Given the description of an element on the screen output the (x, y) to click on. 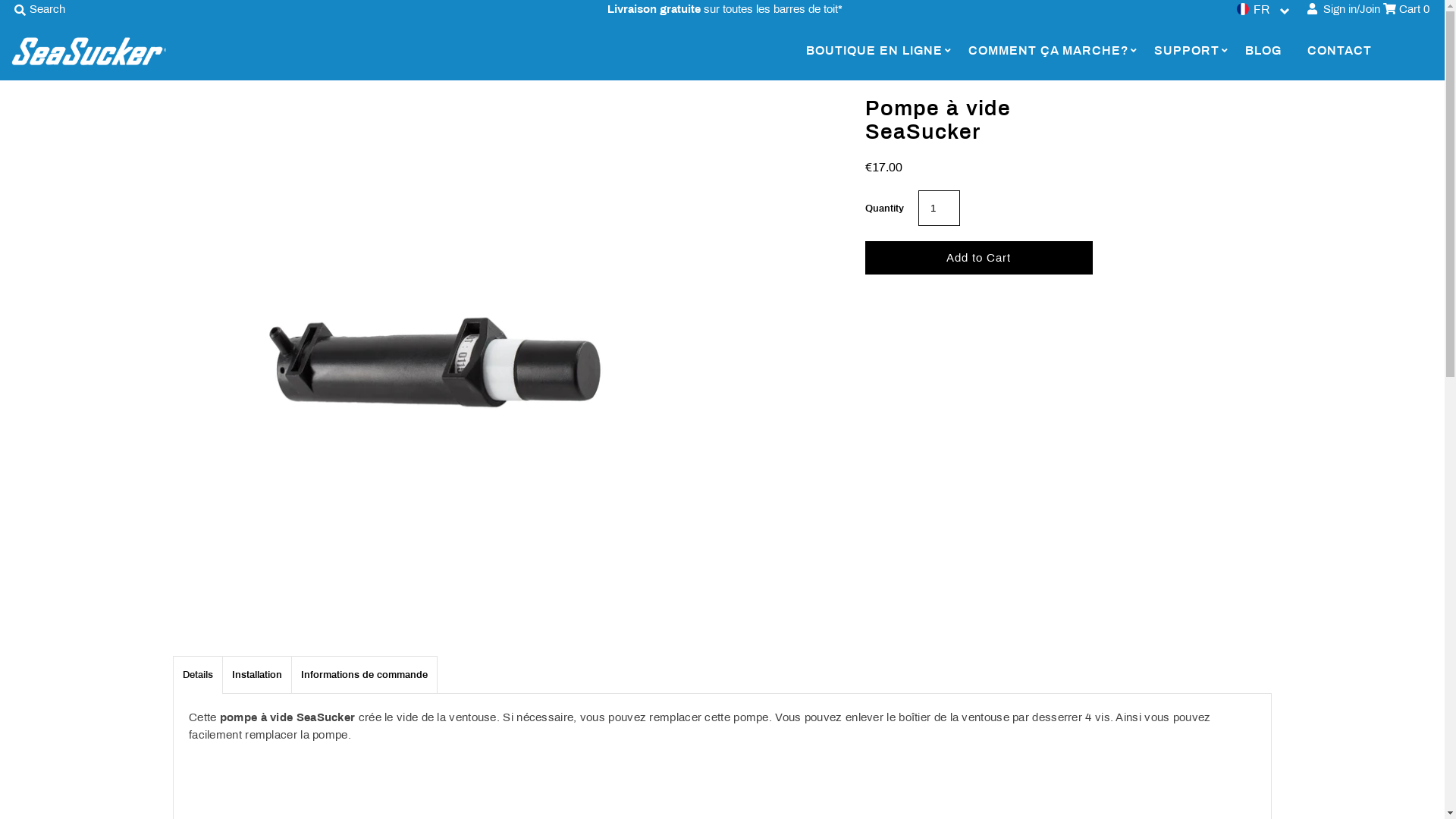
SUPPORT Element type: text (1186, 50)
BLOG Element type: text (1262, 50)
CONTACT Element type: text (1339, 50)
  Sign in/Join Element type: text (1343, 9)
 Cart 0 Element type: text (1406, 9)
BOUTIQUE EN LIGNE Element type: text (873, 50)
Add to Cart Element type: text (978, 257)
FR Element type: text (1263, 9)
